Given the description of an element on the screen output the (x, y) to click on. 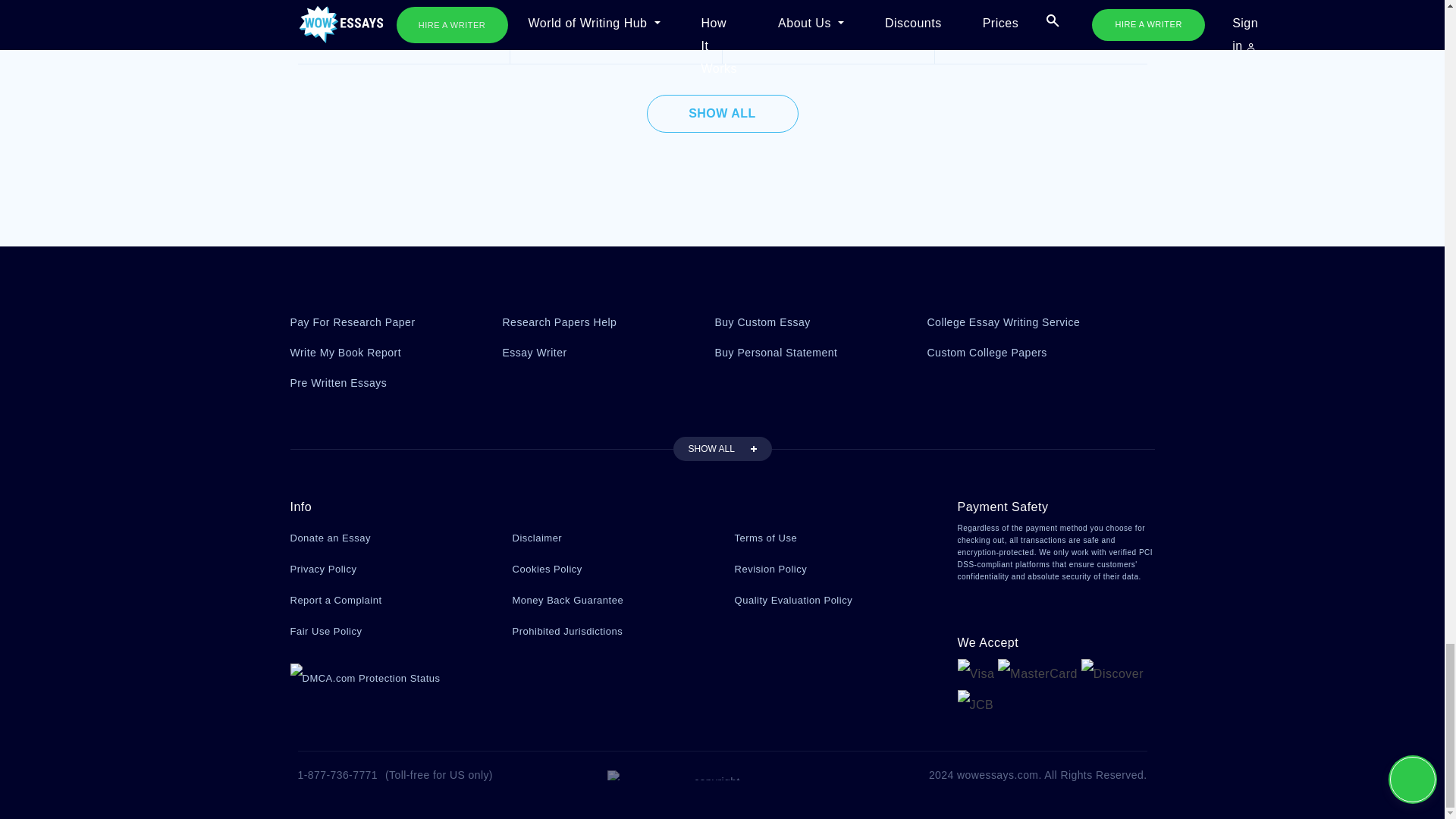
DMCA.com Protection Status (364, 677)
